Given the description of an element on the screen output the (x, y) to click on. 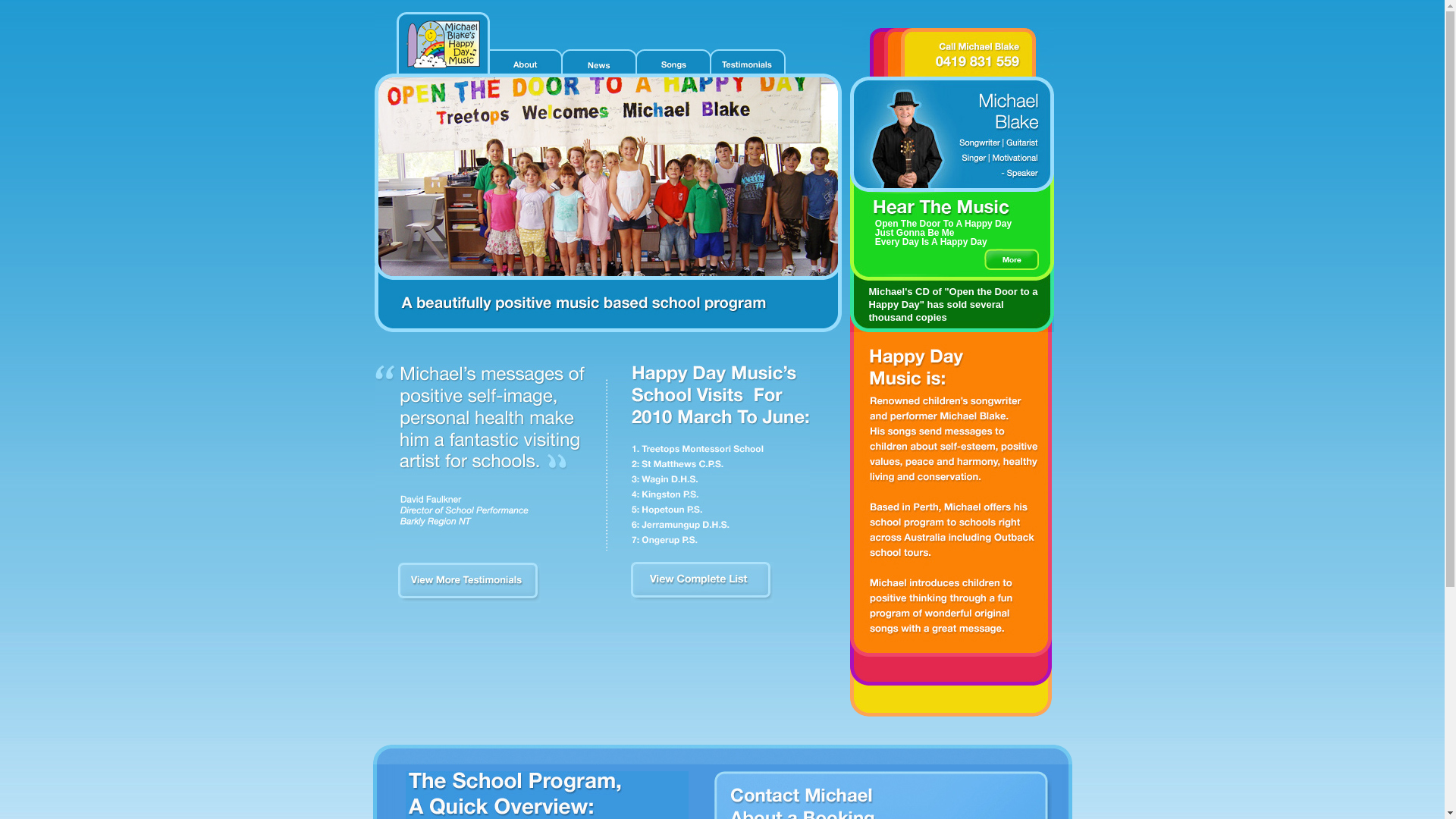
More... Element type: hover (1011, 259)
Home Element type: hover (441, 43)
Testimonials Element type: hover (745, 61)
View Complete List Element type: hover (701, 599)
Songs Element type: hover (671, 61)
News Element type: hover (597, 61)
About Element type: hover (523, 61)
View More Testimonials Element type: hover (468, 599)
